Given the description of an element on the screen output the (x, y) to click on. 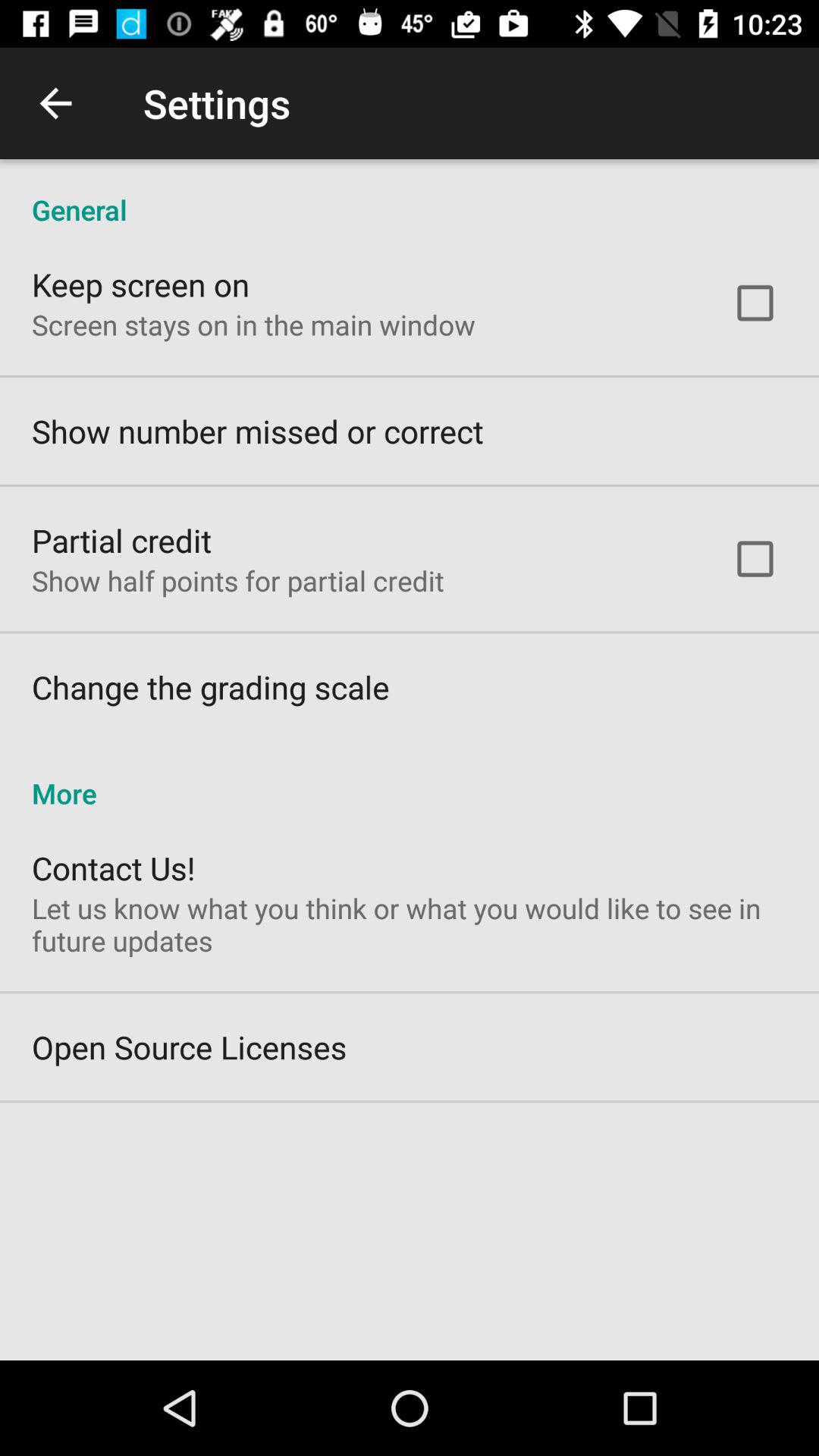
tap item below the show half points item (210, 686)
